Given the description of an element on the screen output the (x, y) to click on. 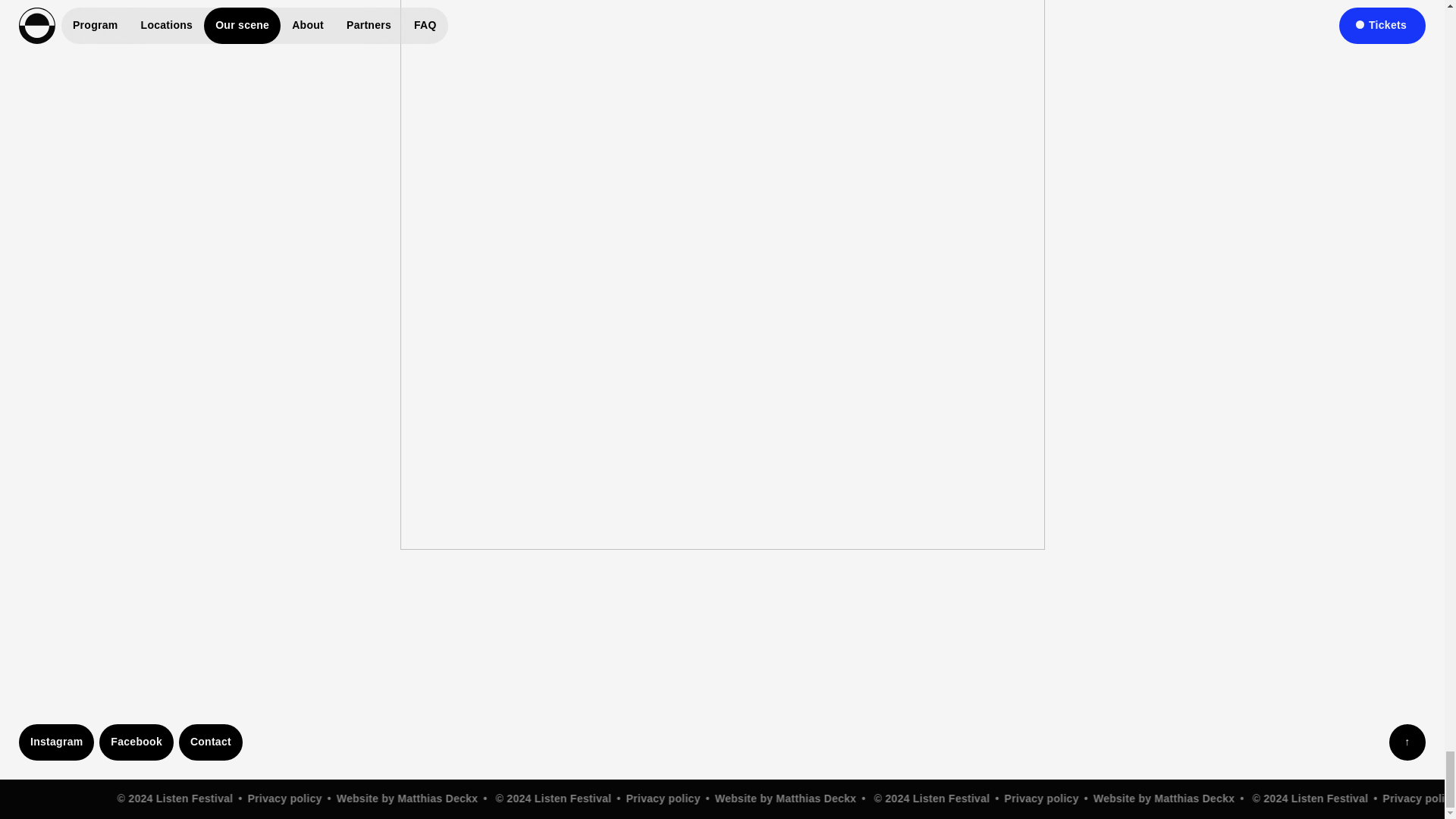
Matthias Deckx (431, 798)
Privacy policy (1032, 798)
Facebook (136, 741)
Instagram (56, 741)
Matthias Deckx (1184, 798)
Contact (211, 741)
Privacy policy (280, 798)
Privacy policy (657, 798)
Matthias Deckx (808, 798)
